Given the description of an element on the screen output the (x, y) to click on. 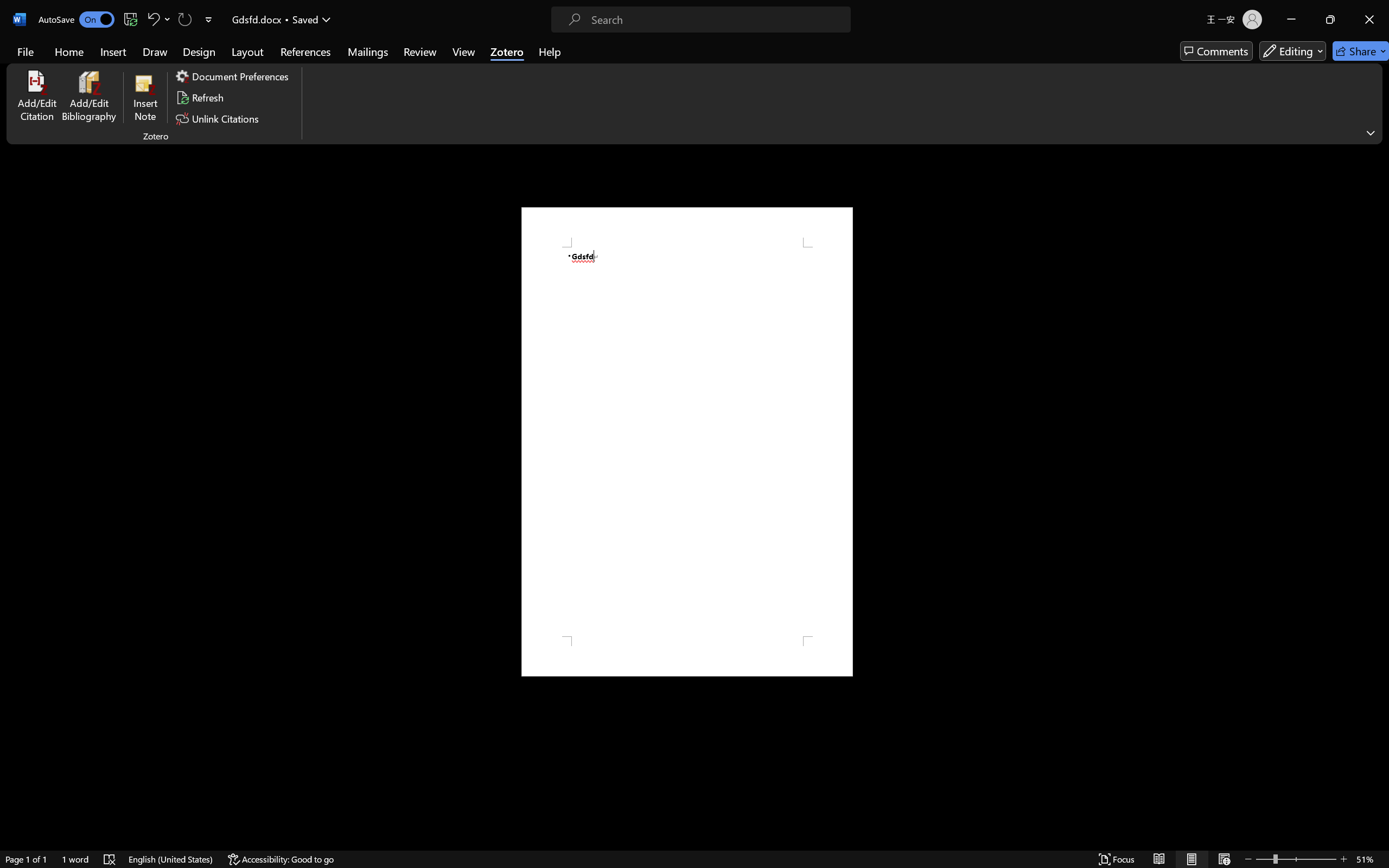
Page 1 content (686, 441)
